Given the description of an element on the screen output the (x, y) to click on. 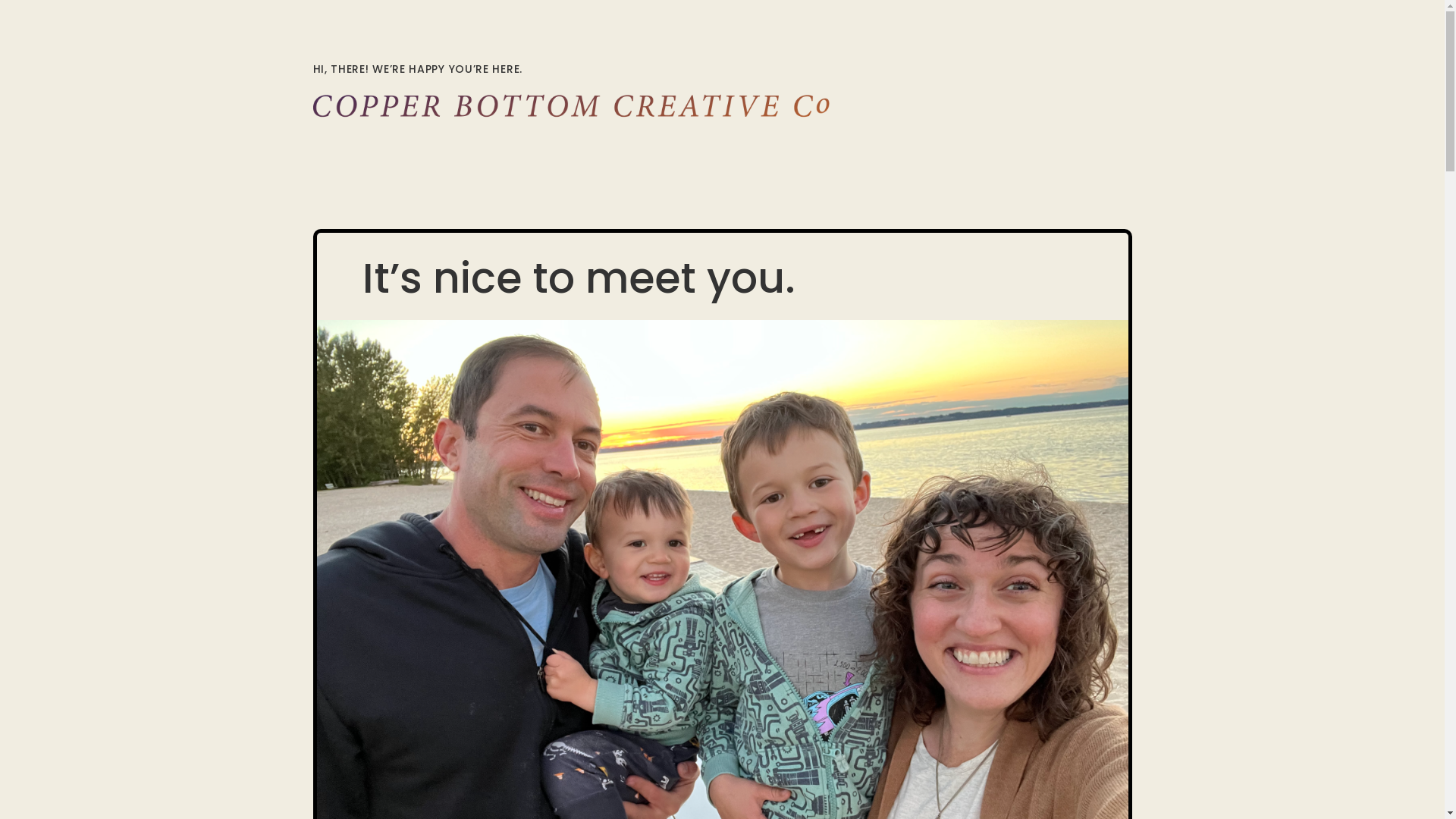
Copper Bottom Creative Co. Element type: hover (577, 105)
